Given the description of an element on the screen output the (x, y) to click on. 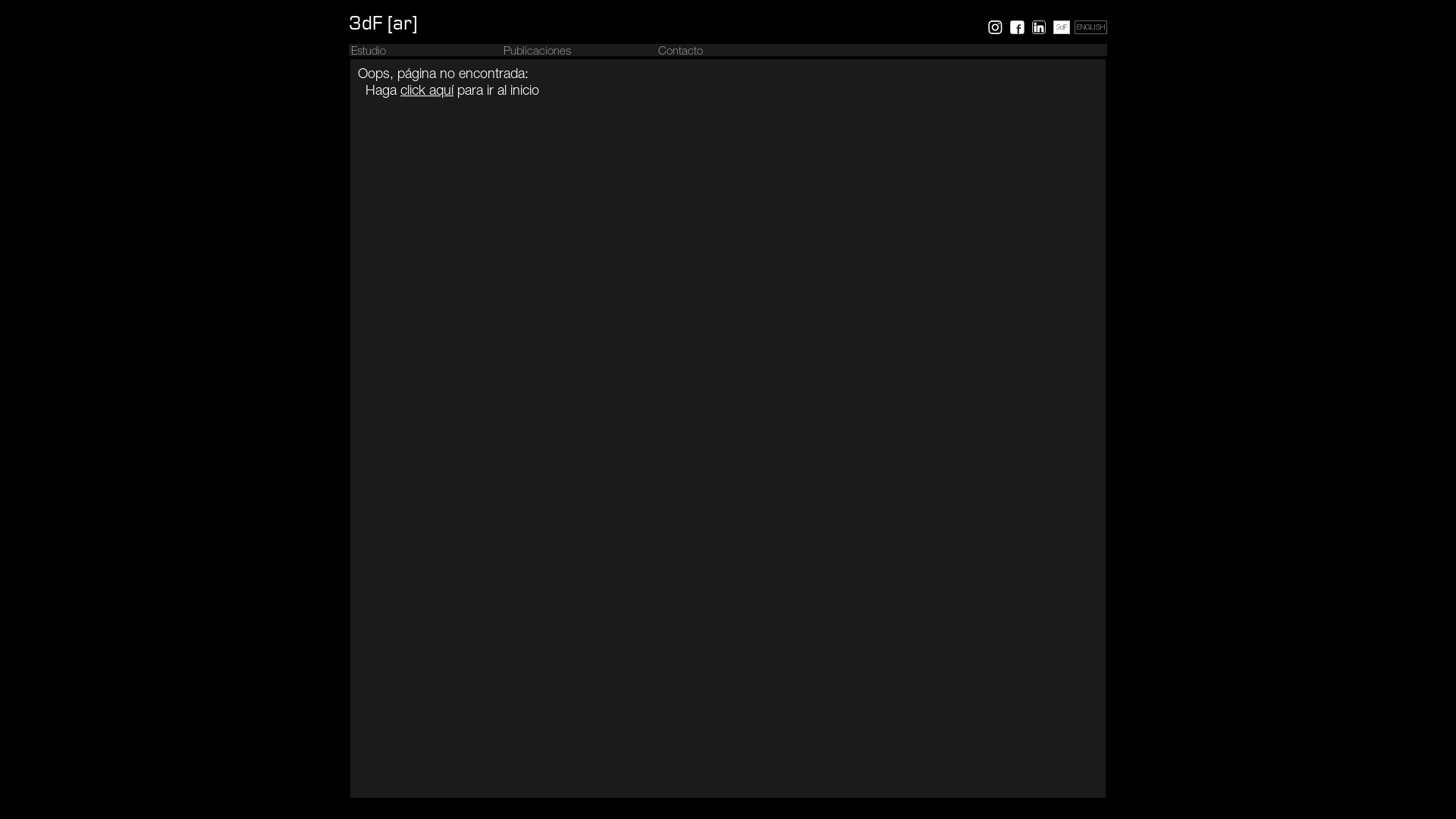
Publicaciones Element type: text (537, 51)
Facebook Element type: hover (1017, 27)
ENGLISH Element type: text (1090, 28)
Estudio Element type: text (368, 51)
3dF [ar] Element type: text (382, 23)
LinkedIn Element type: hover (1038, 27)
Contacto Element type: text (680, 51)
3dF Element type: text (1061, 28)
Instagram Element type: hover (995, 27)
